Given the description of an element on the screen output the (x, y) to click on. 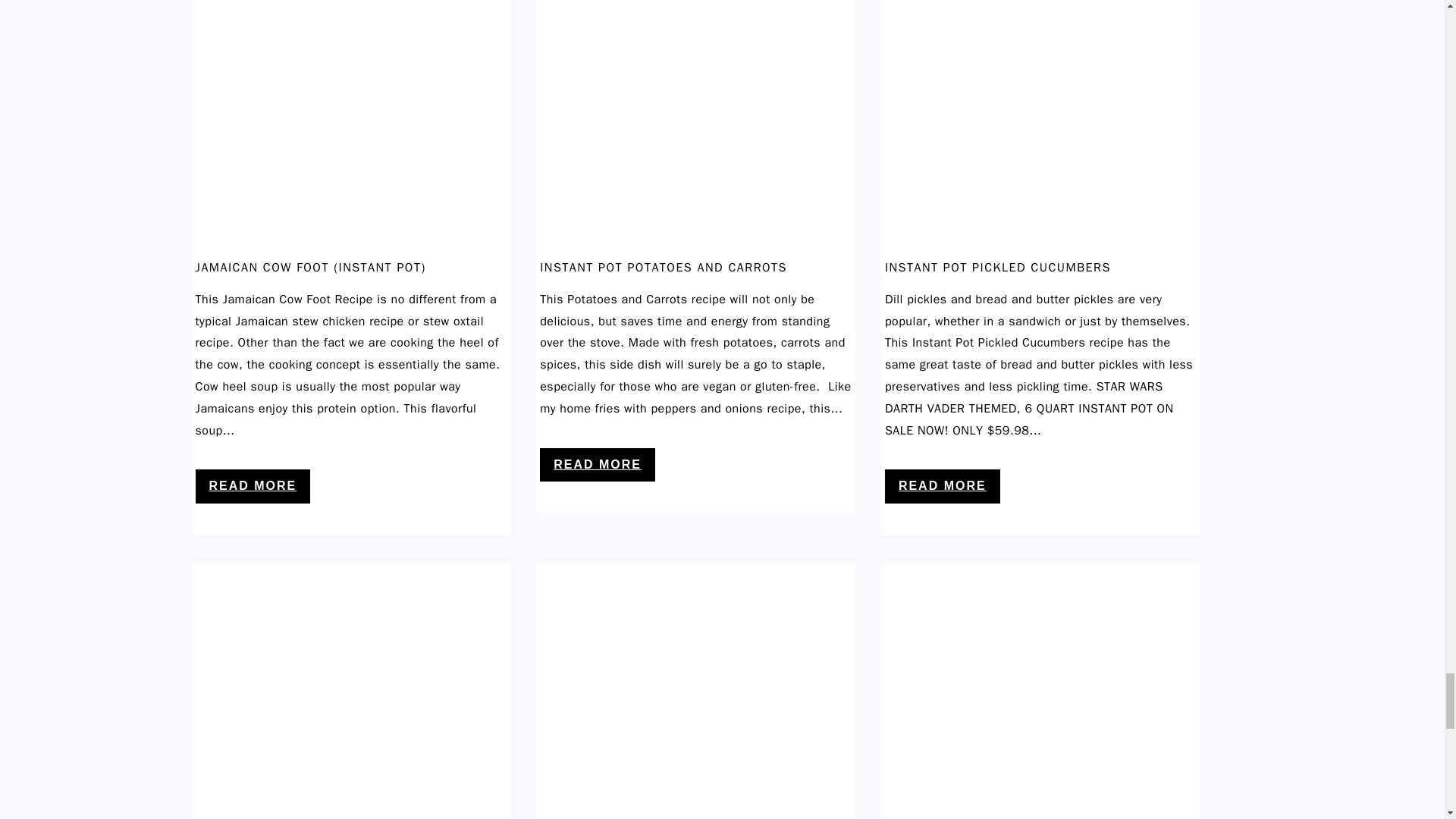
Instant Pot Pickled Cucumbers (1040, 248)
Instant Pot Potatoes and Carrots (695, 248)
